Given the description of an element on the screen output the (x, y) to click on. 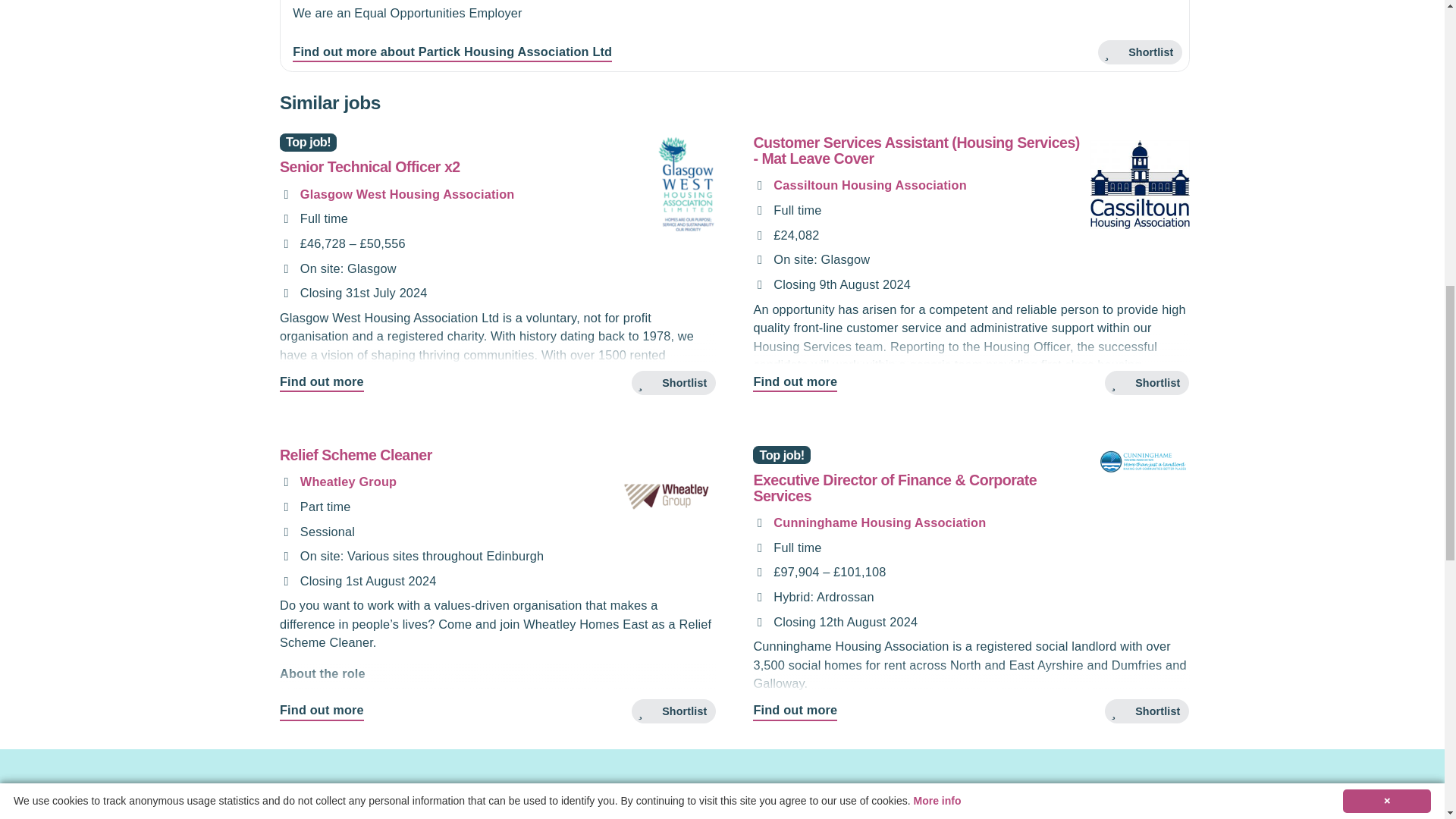
Status (286, 218)
Salary (286, 244)
Organisation (286, 194)
